Given the description of an element on the screen output the (x, y) to click on. 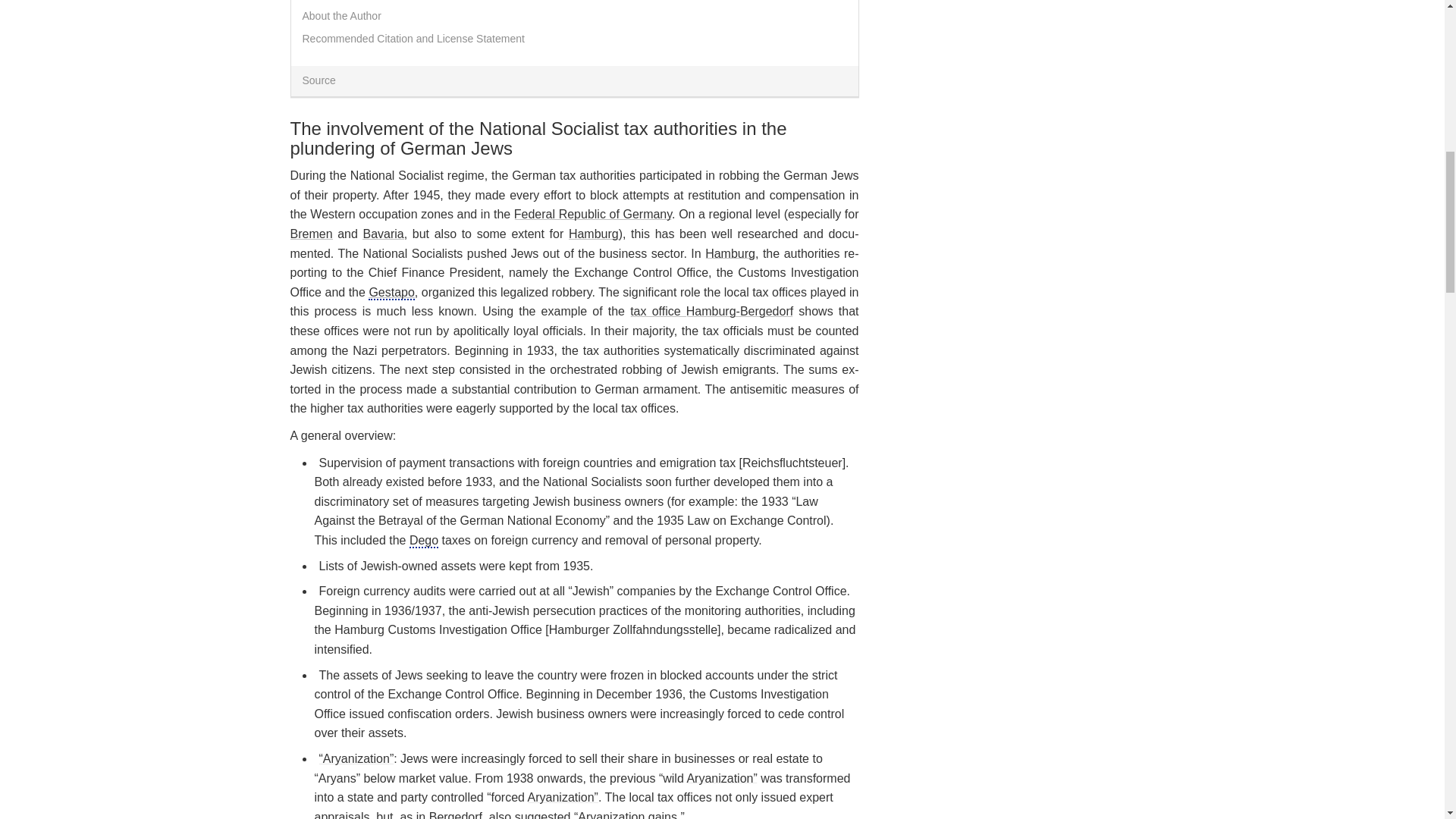
foreign language material (792, 462)
foreign language material (632, 629)
foreign language material (423, 540)
Secret State Police (390, 292)
foreign language material (390, 291)
